Given the description of an element on the screen output the (x, y) to click on. 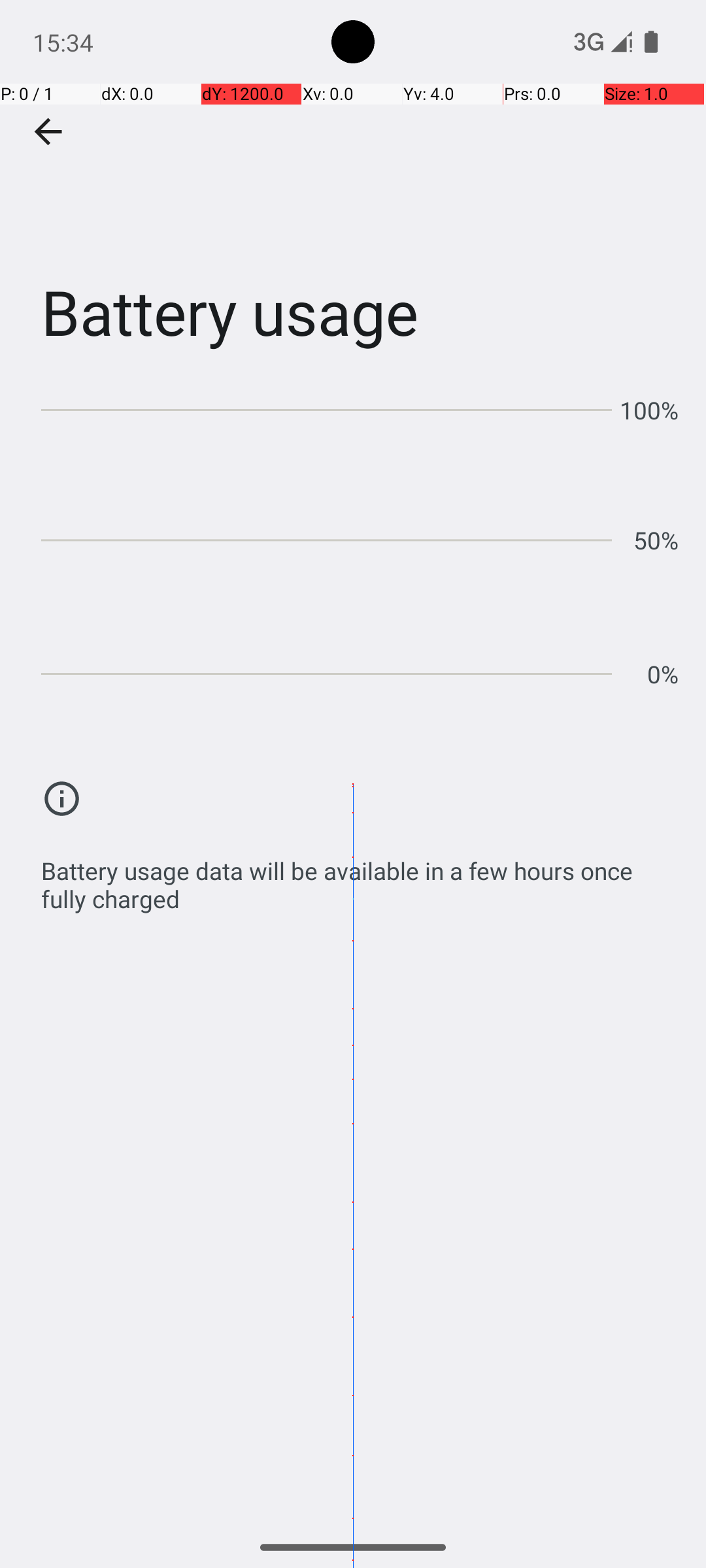
Battery usage Element type: android.widget.FrameLayout (353, 195)
Hourly battery usage chart Element type: android.widget.ImageView (359, 536)
Battery usage data will be available in a few hours once fully charged Element type: android.widget.TextView (359, 877)
